Given the description of an element on the screen output the (x, y) to click on. 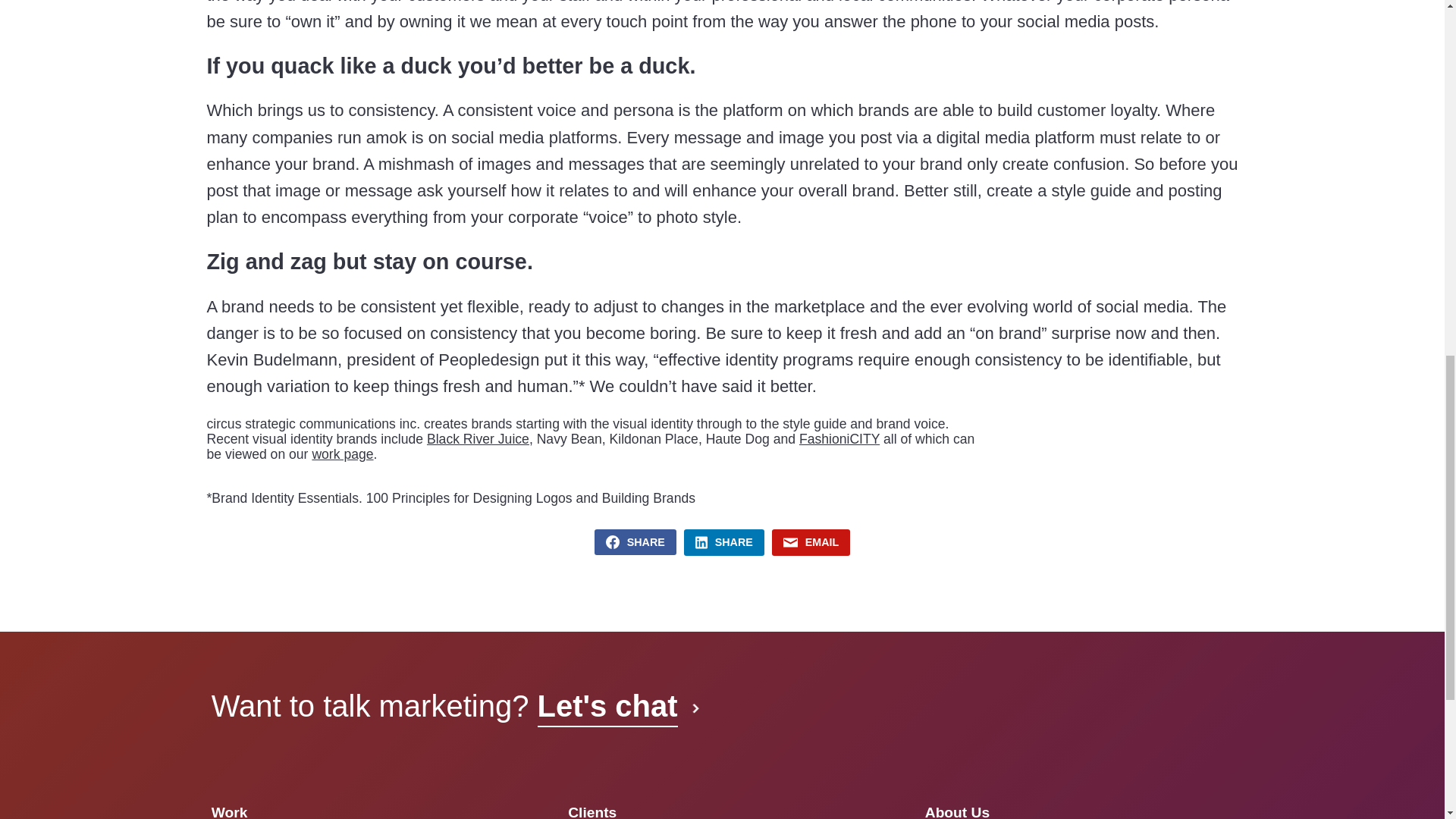
Black River Juice (477, 438)
EMAIL (810, 542)
Work (229, 811)
FashioniCITY (839, 438)
About Us (957, 811)
work page (341, 453)
SHARE (724, 542)
Clients (591, 811)
SHARE (635, 542)
Let's chat (615, 705)
